Given the description of an element on the screen output the (x, y) to click on. 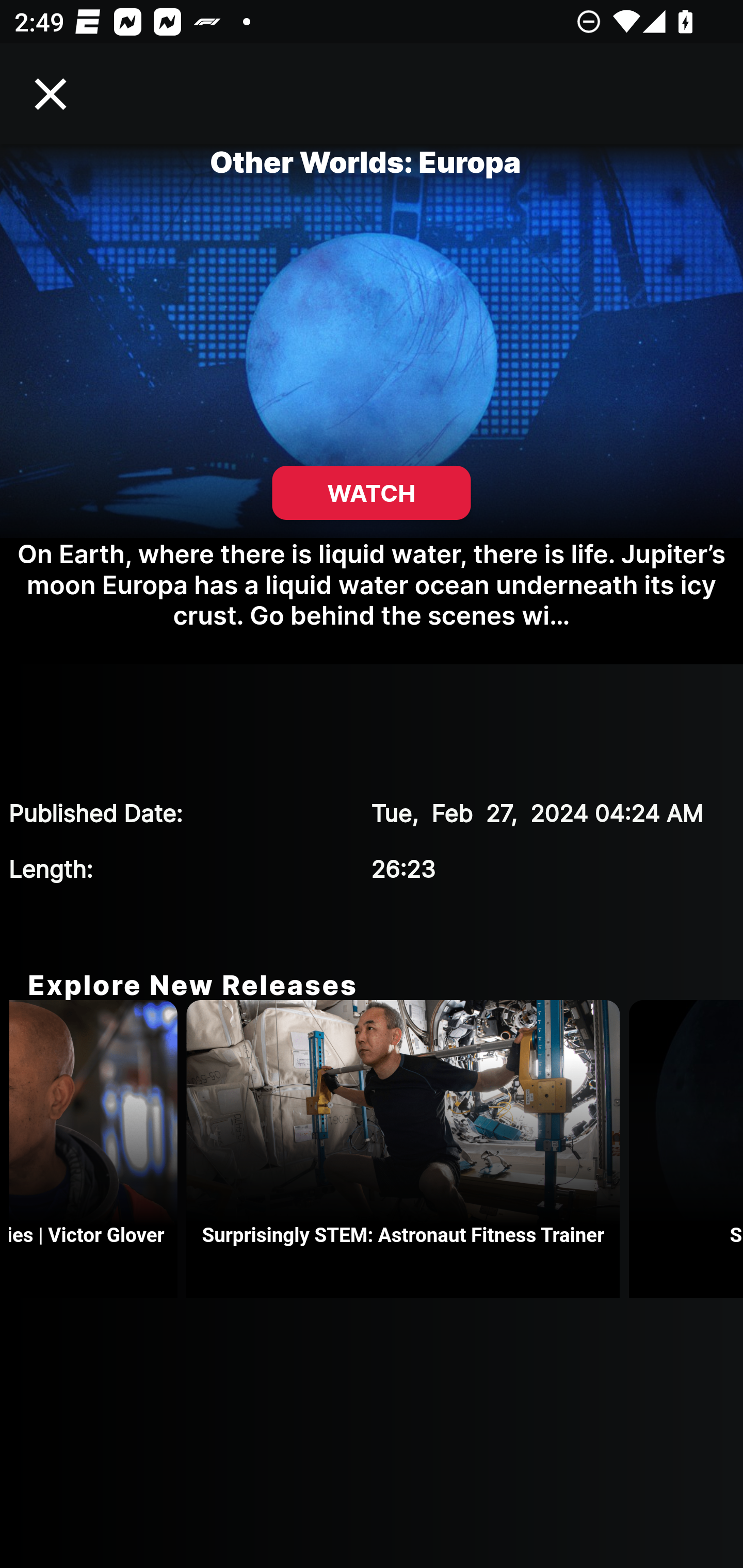
WATCH (371, 492)
Surprisingly STEM: Astronaut Fitness Trainer (407, 1149)
